Given the description of an element on the screen output the (x, y) to click on. 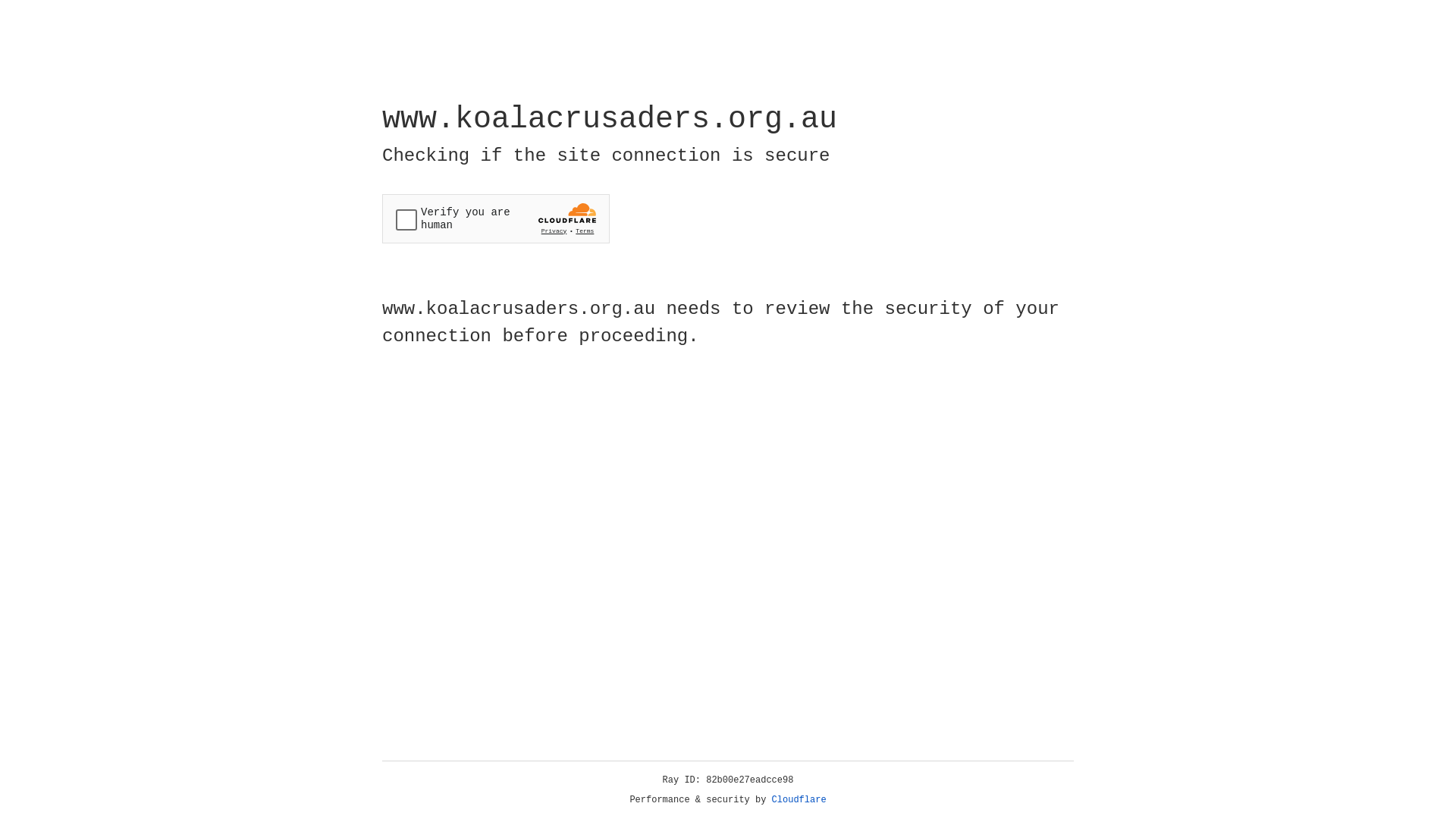
Widget containing a Cloudflare security challenge Element type: hover (495, 218)
Cloudflare Element type: text (798, 799)
